Given the description of an element on the screen output the (x, y) to click on. 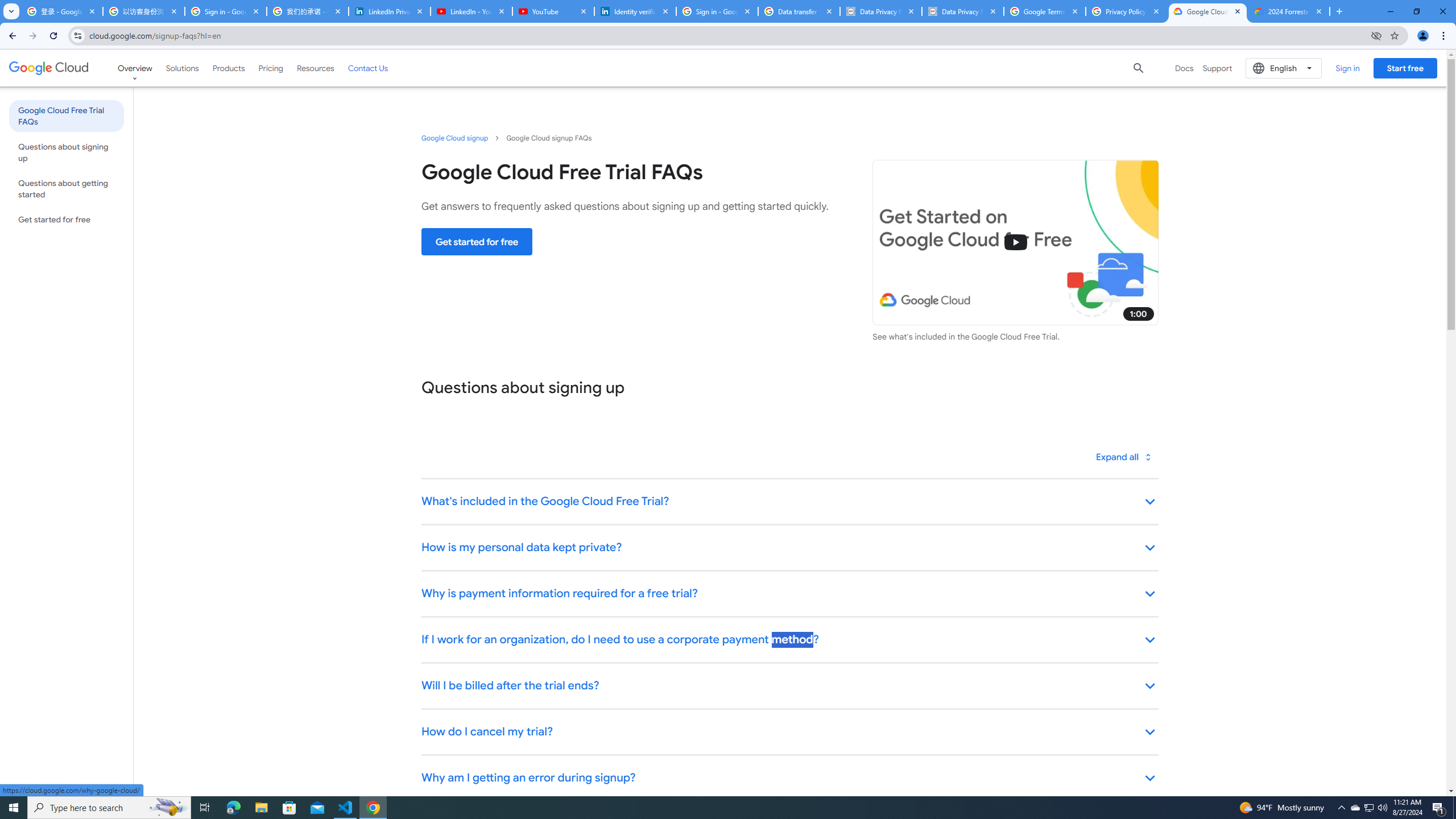
Get started for free (476, 241)
Pricing (270, 67)
Questions about signing up (65, 152)
Start free (1405, 67)
